Given the description of an element on the screen output the (x, y) to click on. 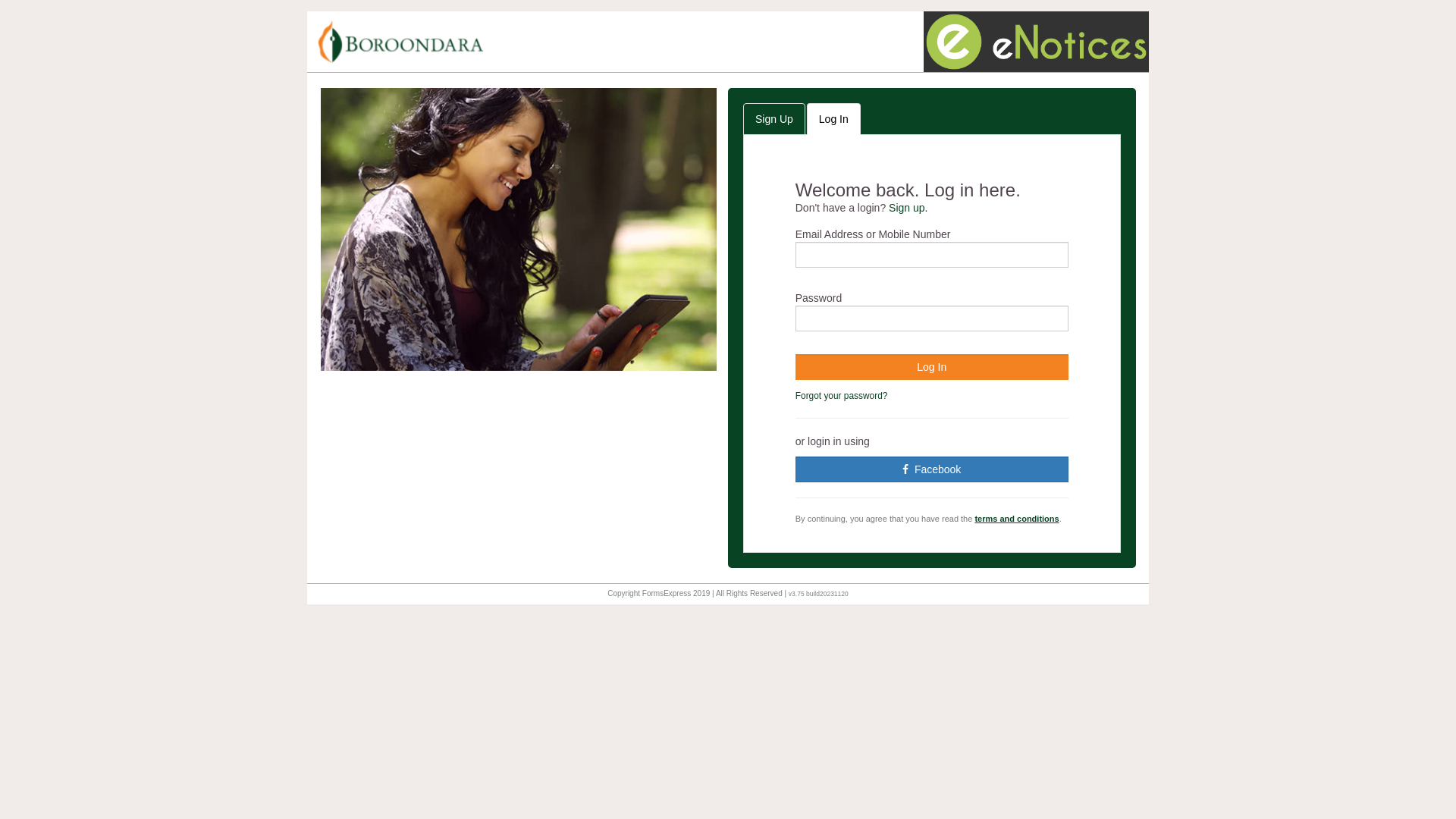
terms and conditions Element type: text (1016, 518)
Forgot your password? Element type: text (841, 395)
Sign up. Element type: text (907, 207)
  Facebook Element type: text (931, 469)
Log In Element type: text (931, 366)
Log In Element type: text (833, 118)
Sign Up Element type: text (774, 118)
